Given the description of an element on the screen output the (x, y) to click on. 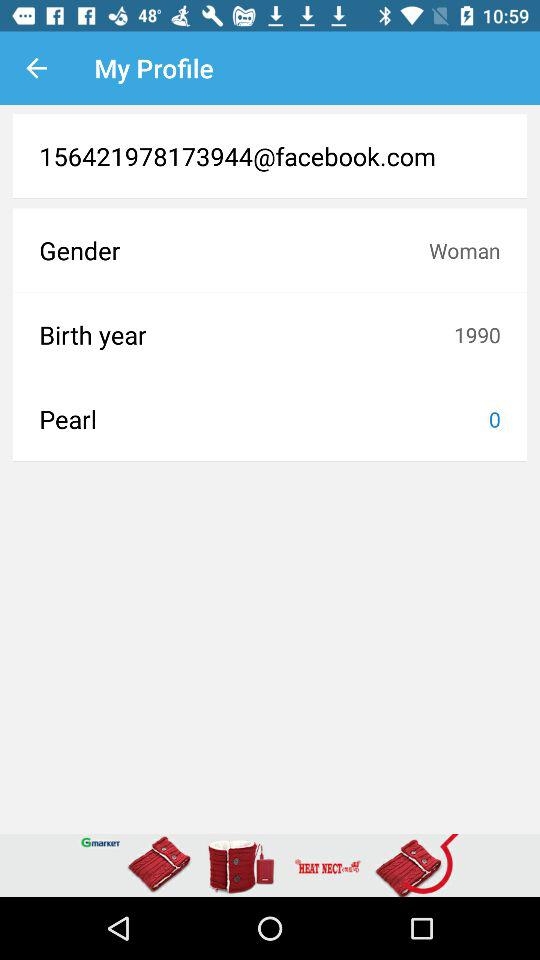
swipe to the birth year item (246, 334)
